Given the description of an element on the screen output the (x, y) to click on. 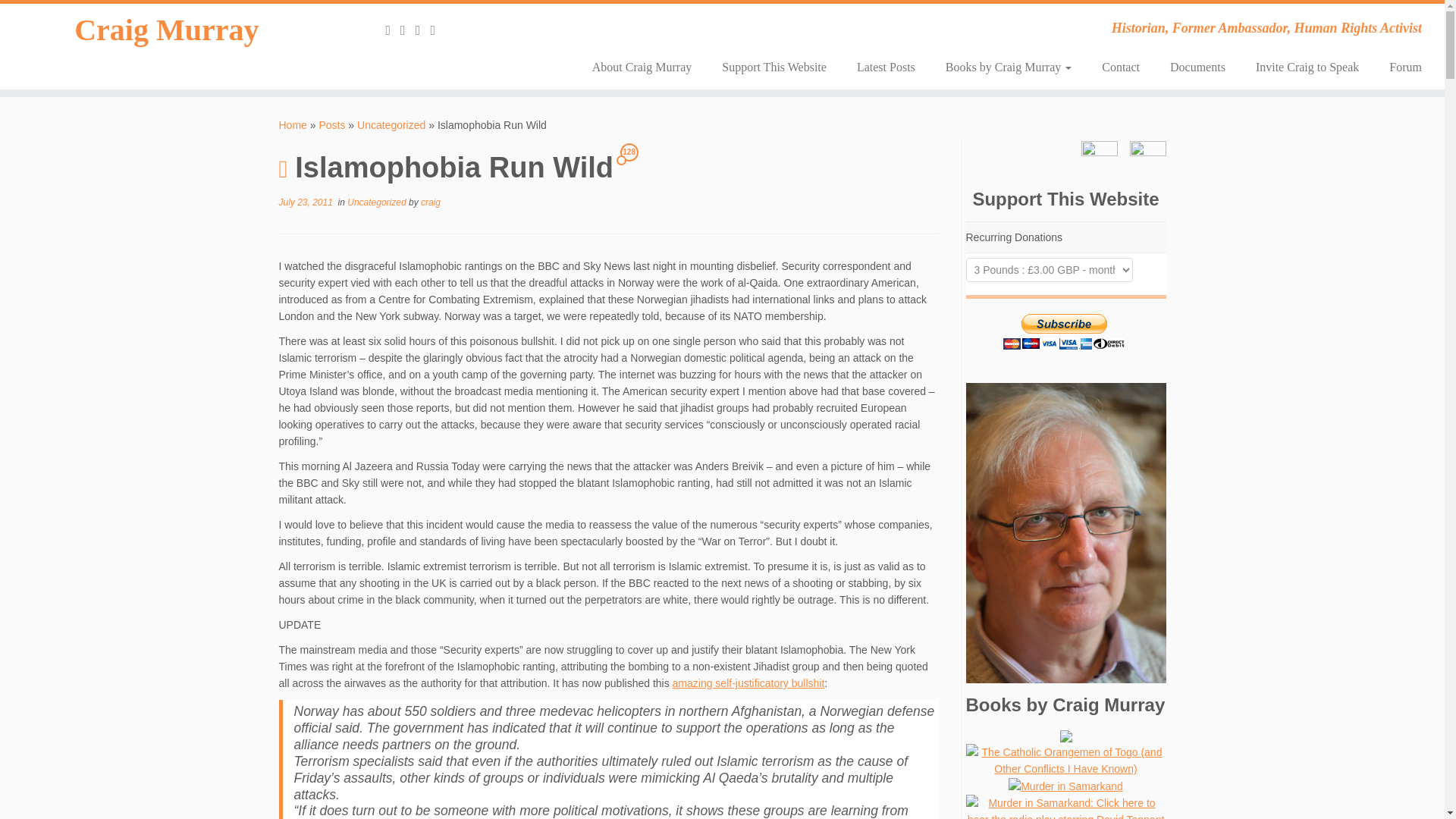
Forum (1398, 67)
craig (430, 202)
Books by Craig Murray (1008, 67)
Craig Murray (166, 30)
View all posts by craig (430, 202)
Posts (331, 124)
Subscribe to my rss feed (392, 29)
View all posts in Uncategorized (378, 202)
Invite Craig to Speak (1307, 67)
Documents (1197, 67)
